Given the description of an element on the screen output the (x, y) to click on. 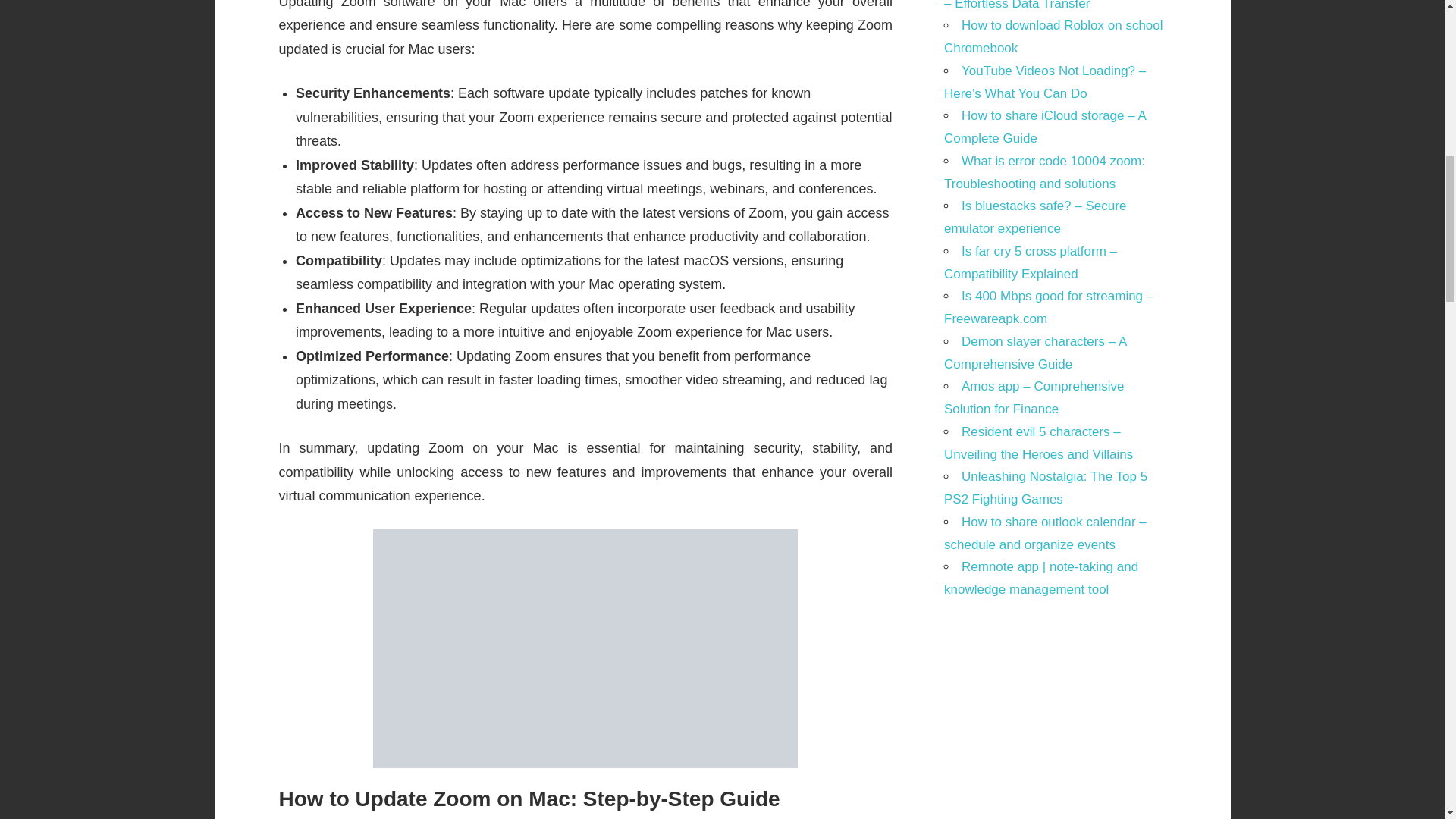
How to download Roblox on school Chromebook (1053, 36)
Unleashing Nostalgia: The Top 5 PS2 Fighting Games (1045, 487)
What is error code 10004 zoom: Troubleshooting and solutions (1043, 171)
